Given the description of an element on the screen output the (x, y) to click on. 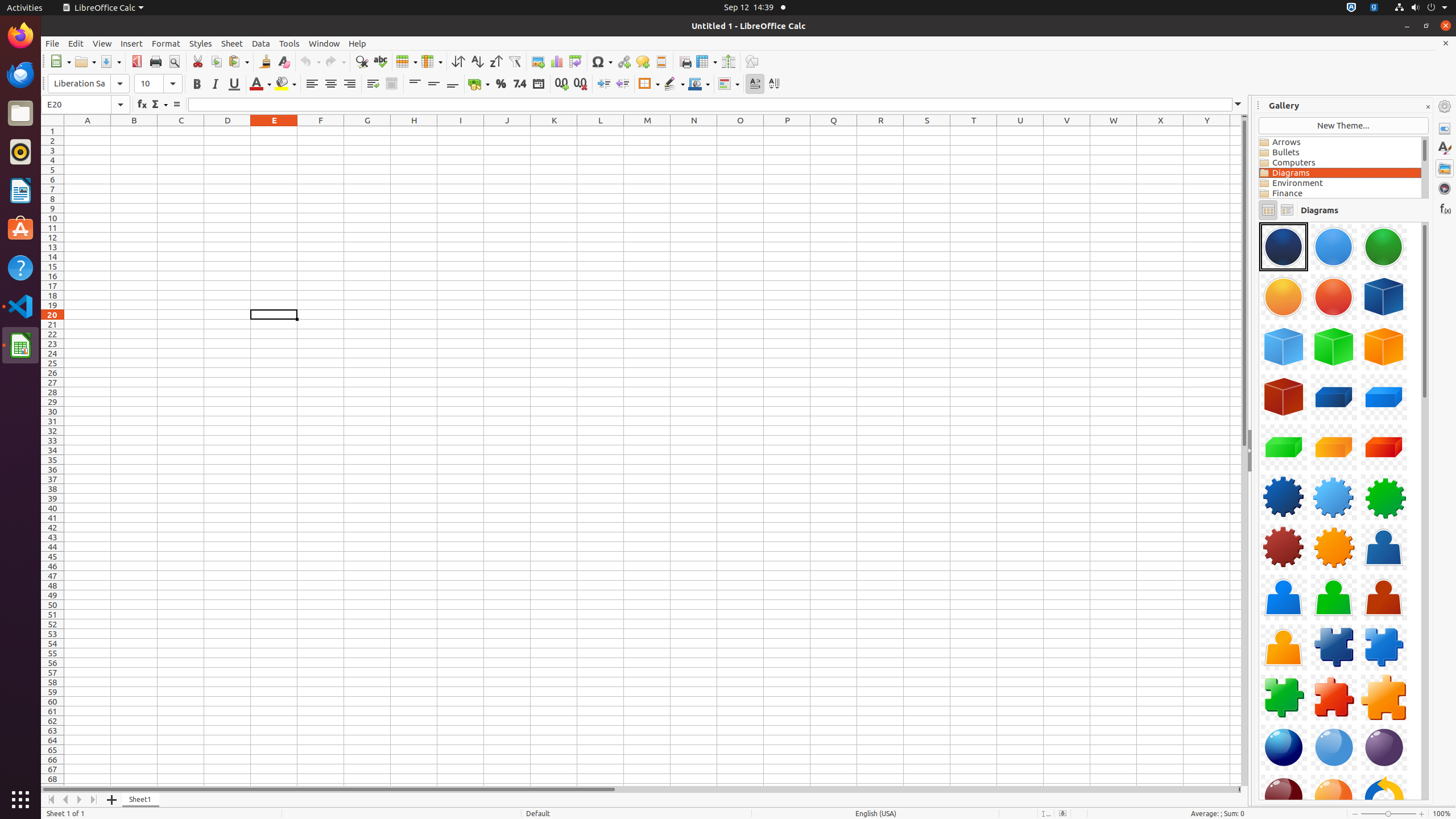
Formula Element type: push-button (176, 104)
Date Element type: push-button (537, 83)
B1 Element type: table-cell (133, 130)
H1 Element type: table-cell (413, 130)
Component-Cuboid02-Blue Element type: list-item (1383, 396)
